Given the description of an element on the screen output the (x, y) to click on. 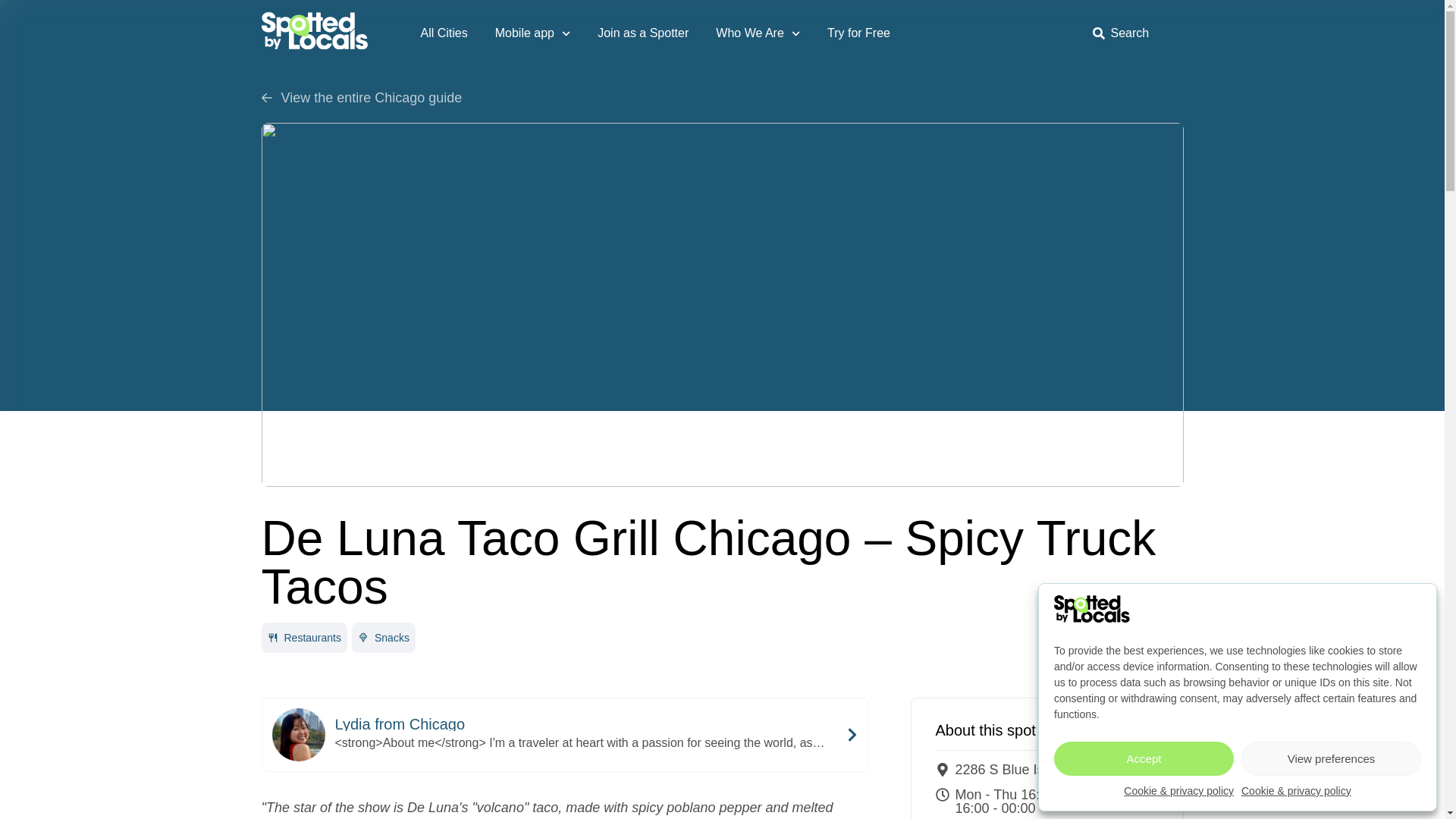
Try for Free (858, 33)
Mobile app (532, 33)
View preferences (1331, 758)
Accept (1143, 758)
Join as a Spotter (642, 33)
All Cities (443, 33)
Who We Are (758, 33)
